Given the description of an element on the screen output the (x, y) to click on. 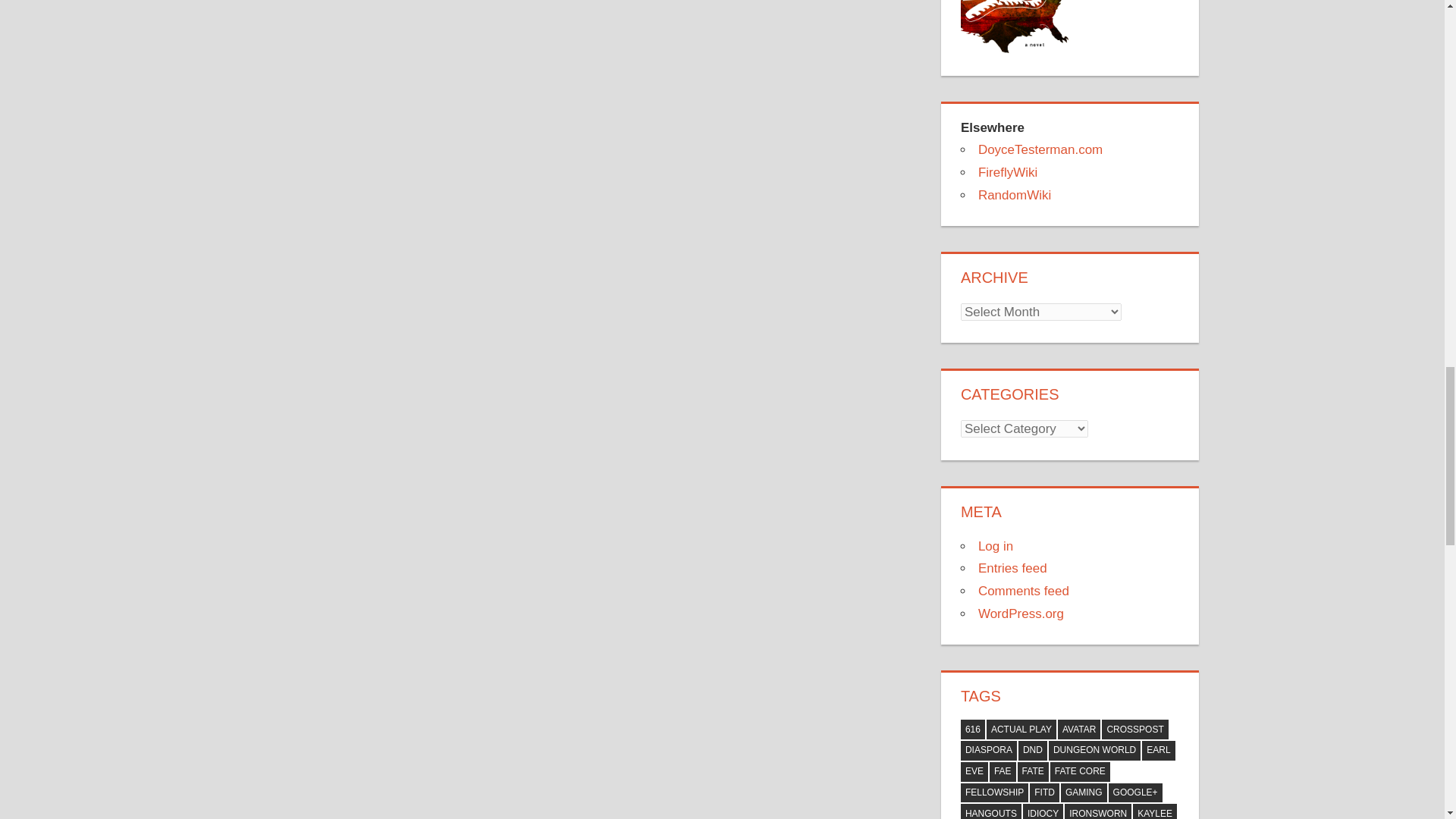
FireflyWiki (1007, 172)
